Given the description of an element on the screen output the (x, y) to click on. 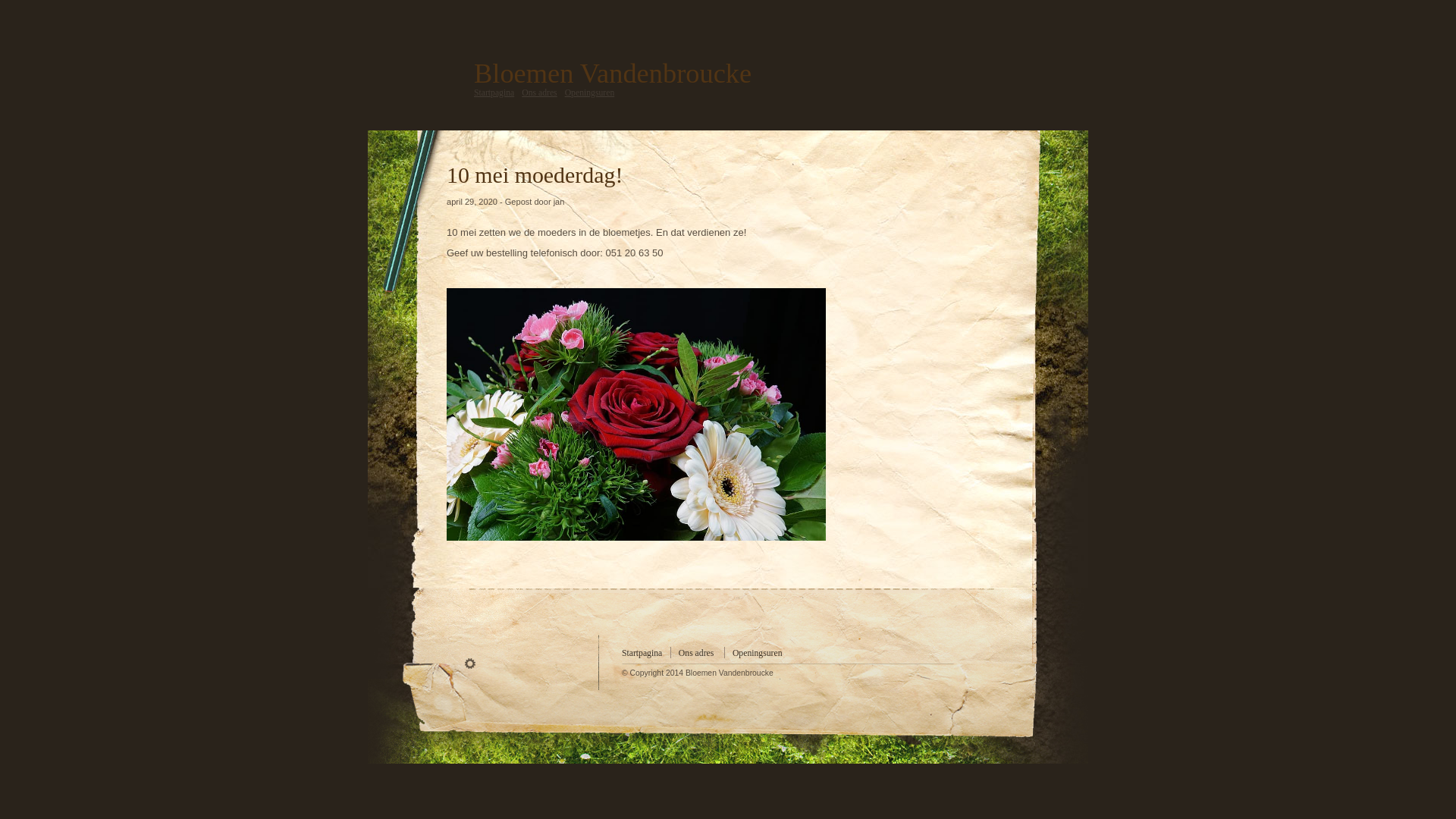
Bloemen Vandenbroucke Element type: text (612, 73)
10 mei moederdag! Element type: text (534, 174)
Ons adres Element type: text (538, 92)
Startpagina Element type: text (493, 92)
Ons adres Element type: text (695, 653)
Startpagina Element type: text (641, 653)
Openingsuren Element type: text (757, 653)
Openingsuren Element type: text (589, 92)
